Given the description of an element on the screen output the (x, y) to click on. 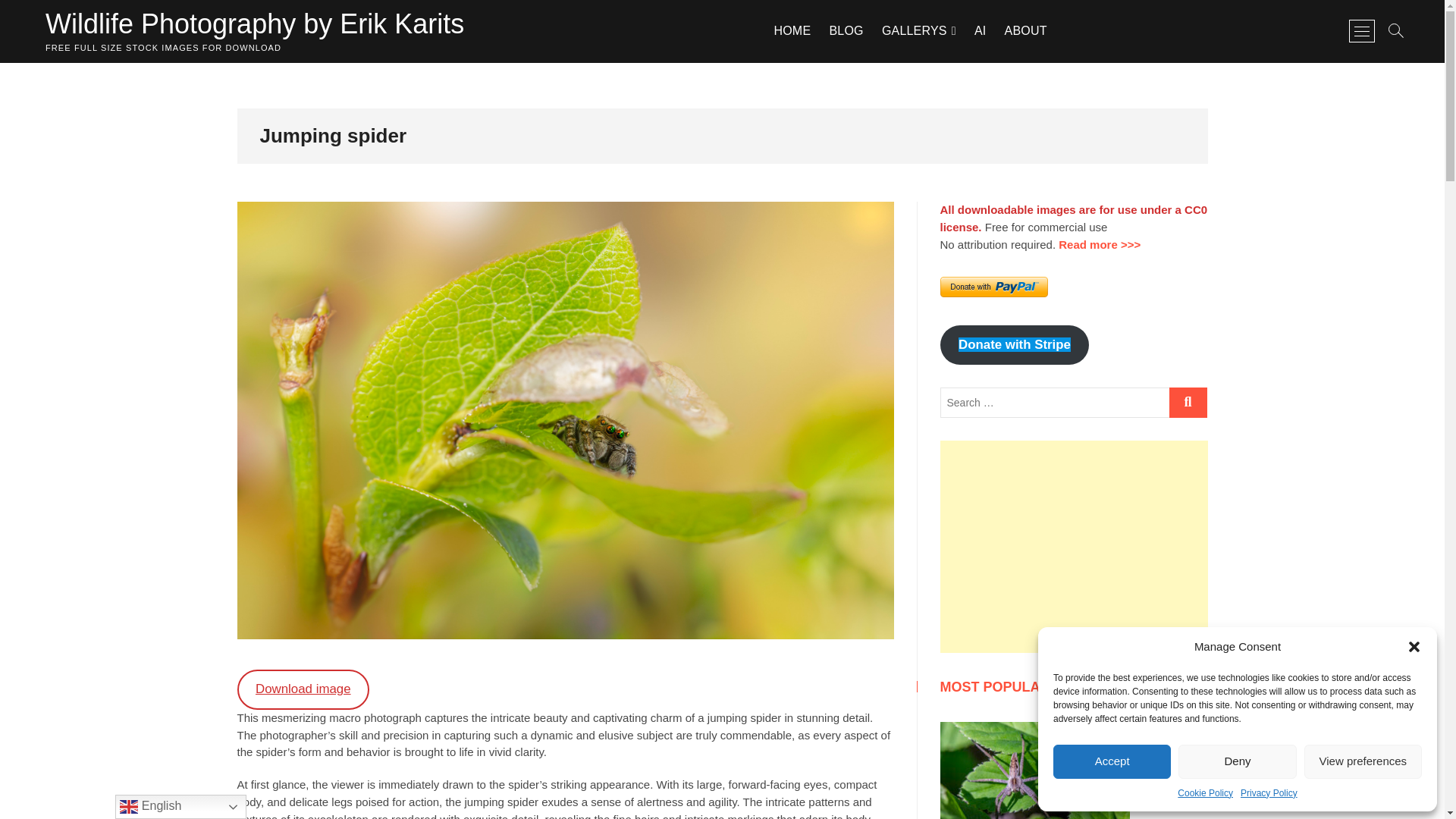
Privacy Policy (1268, 793)
Wildlife Photography by Erik Karits (254, 23)
Deny (1236, 761)
View preferences (1363, 761)
HOME (791, 30)
Accept (1111, 761)
ABOUT (1025, 30)
GALLERYS (919, 30)
BLOG (845, 30)
Wildlife Photography by Erik Karits (254, 23)
